Given the description of an element on the screen output the (x, y) to click on. 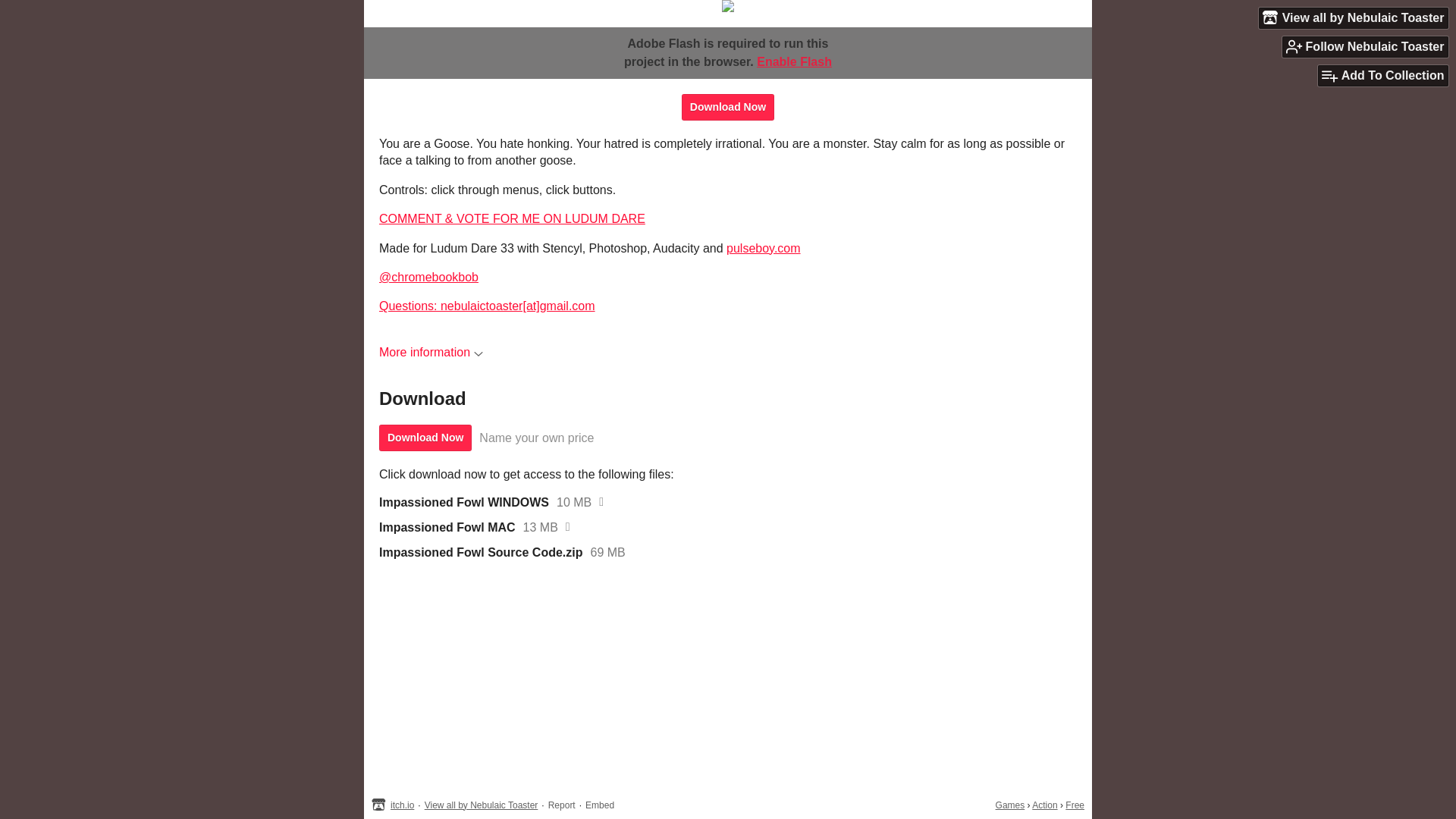
Impassioned Fowl MAC (446, 527)
Download Now (727, 107)
Impassioned Fowl WINDOWS (463, 502)
Download Now (424, 438)
pulseboy.com (763, 247)
Impassioned Fowl Source Code.zip (480, 552)
View all by Nebulaic Toaster (481, 804)
View all by Nebulaic Toaster (1353, 17)
Report (561, 804)
More information (430, 351)
Add To Collection (1382, 75)
Follow Nebulaic Toaster (1365, 46)
itch.io (401, 804)
Enable Flash (794, 61)
